Given the description of an element on the screen output the (x, y) to click on. 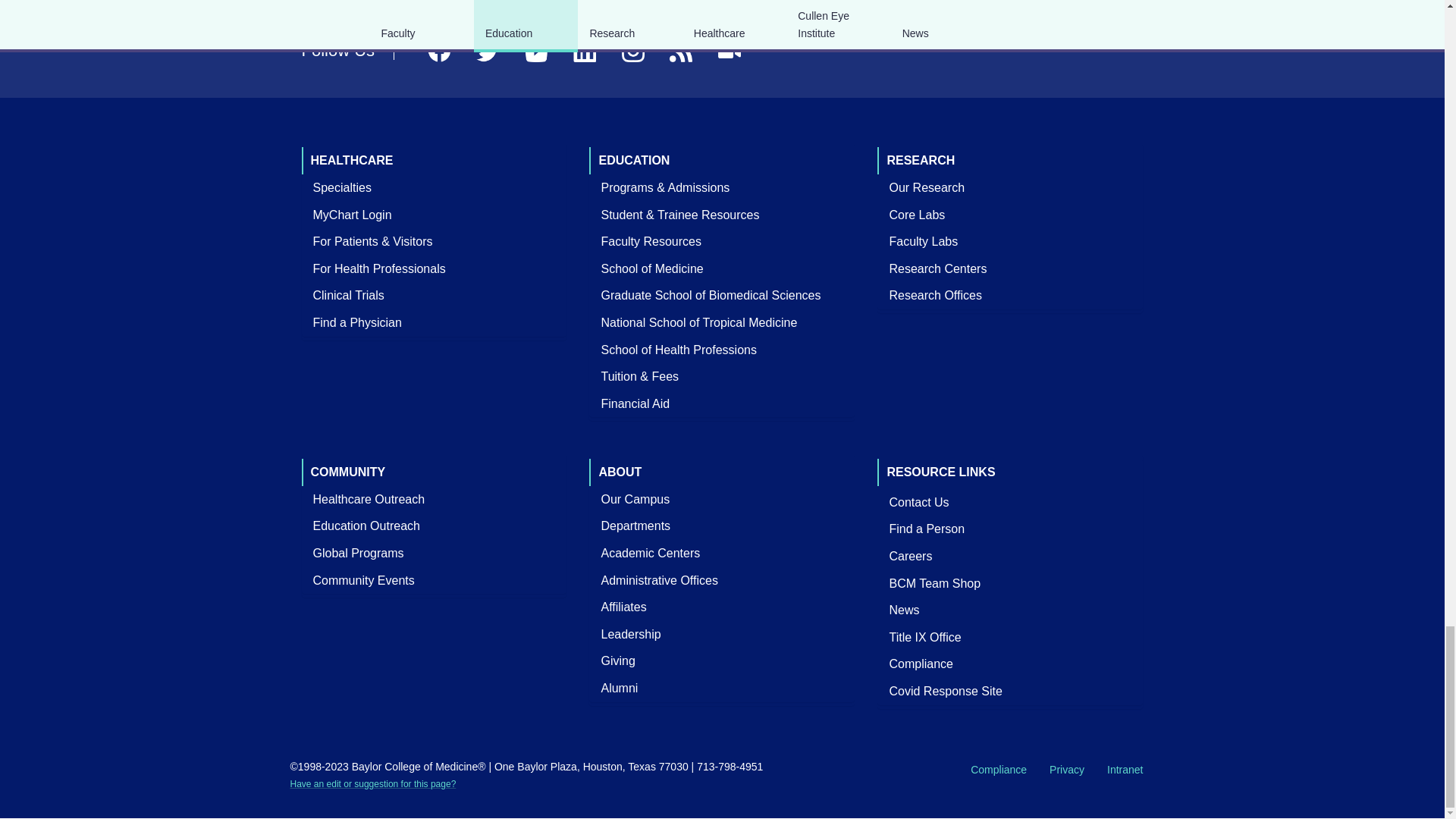
Compliance (920, 663)
Web Request (372, 783)
Covid Response Site (945, 690)
Title IX and Gender Discrimination (924, 637)
